Given the description of an element on the screen output the (x, y) to click on. 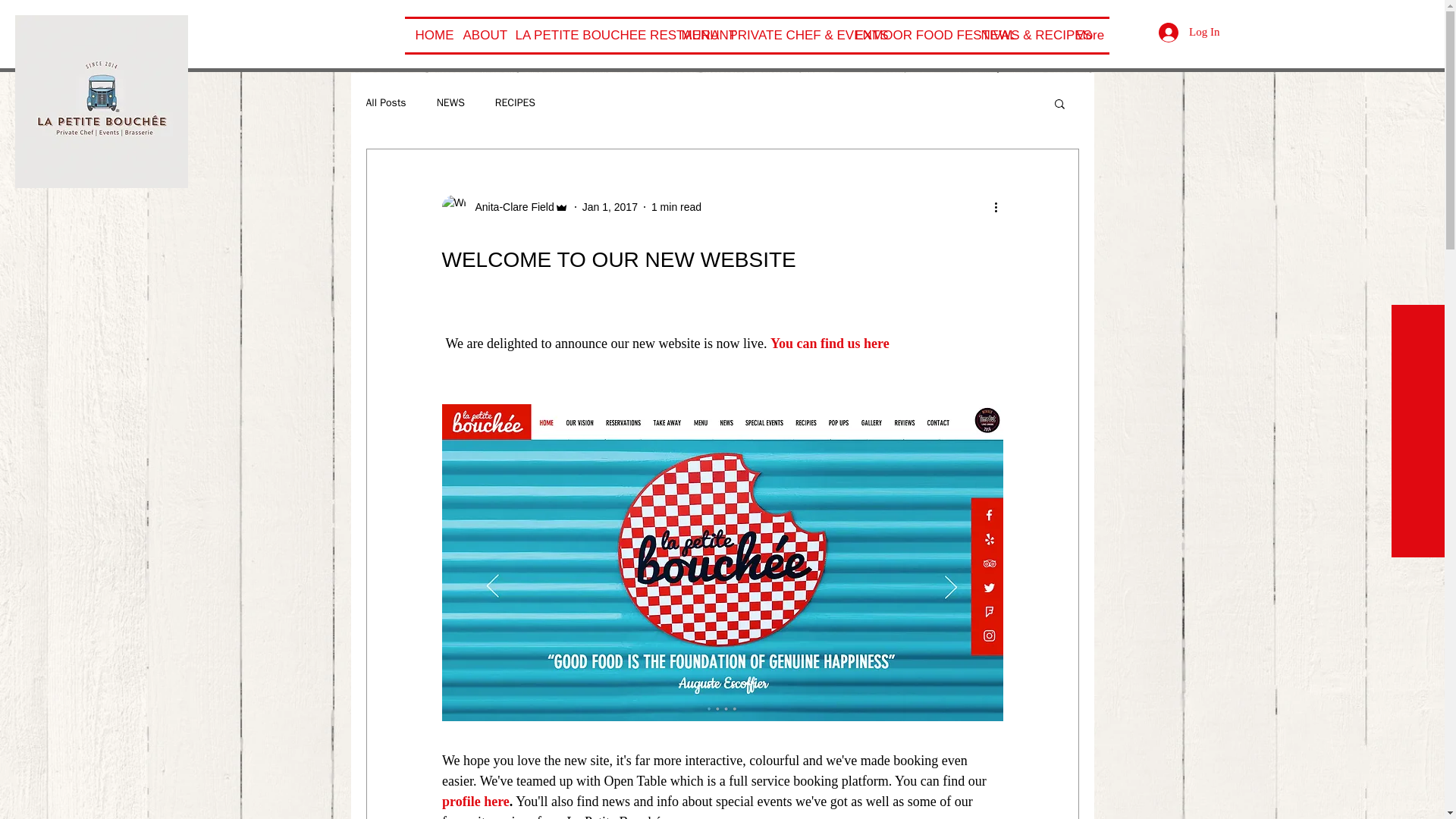
Jan 1, 2017 (609, 205)
Log In (1189, 32)
You can find us here (829, 343)
HOME (428, 35)
1 min read (675, 205)
Anita-Clare Field (509, 206)
All Posts (385, 102)
EXMOOR FOOD FESTIVAL (907, 35)
Anita-Clare Field (504, 206)
NEWS (450, 102)
